Given the description of an element on the screen output the (x, y) to click on. 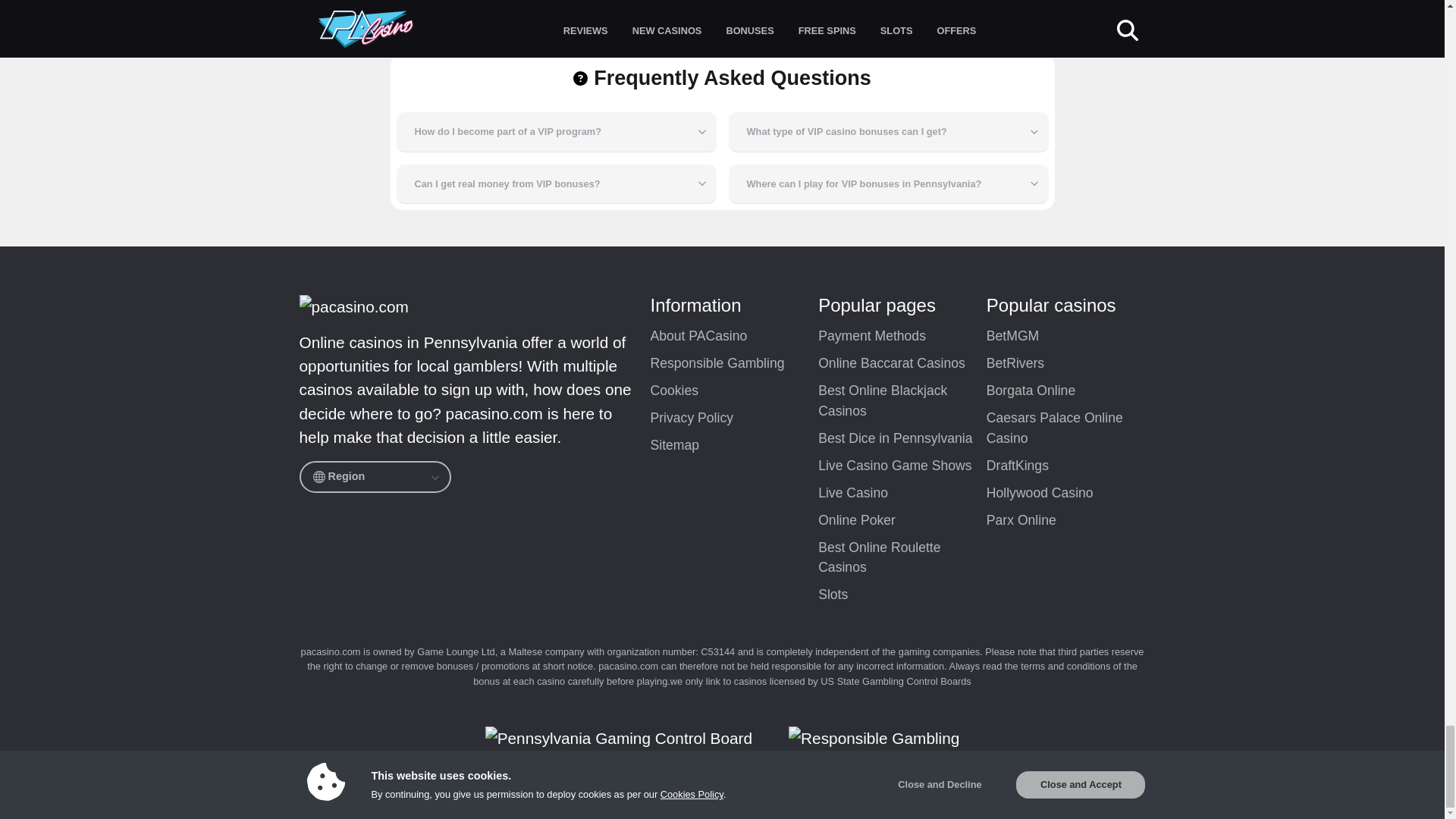
Where can I play for VIP bonuses in Pennsylvania? (888, 183)
What type of VIP casino bonuses can I get? (888, 131)
How do I become part of a VIP program? (556, 131)
Region (373, 477)
Can I get real money from VIP bonuses? (556, 183)
About PACasino (734, 336)
Responsible Gambling (734, 363)
